Given the description of an element on the screen output the (x, y) to click on. 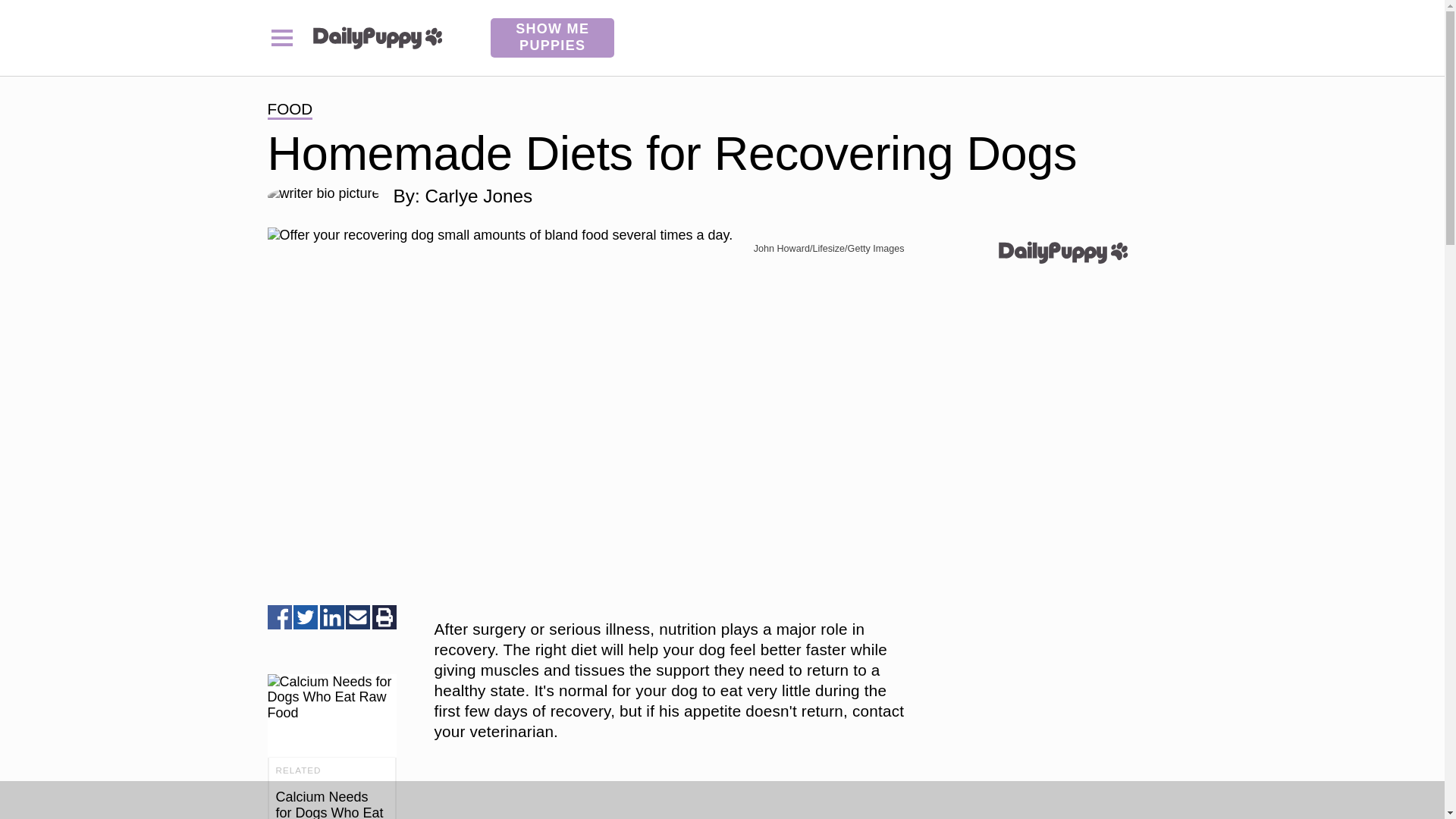
SHOW ME PUPPIES (552, 37)
